Given the description of an element on the screen output the (x, y) to click on. 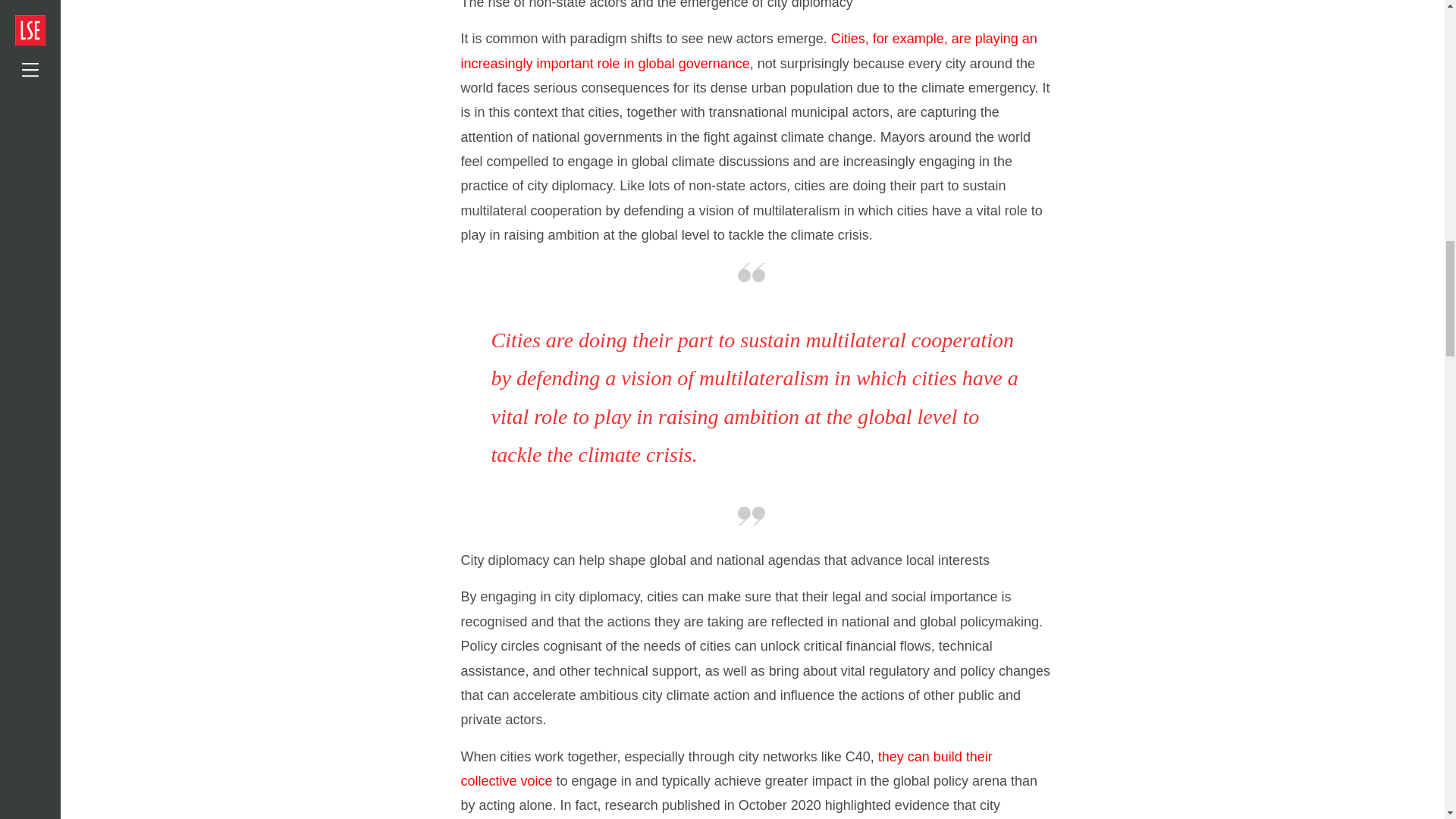
they can build their collective voice (726, 768)
